Given the description of an element on the screen output the (x, y) to click on. 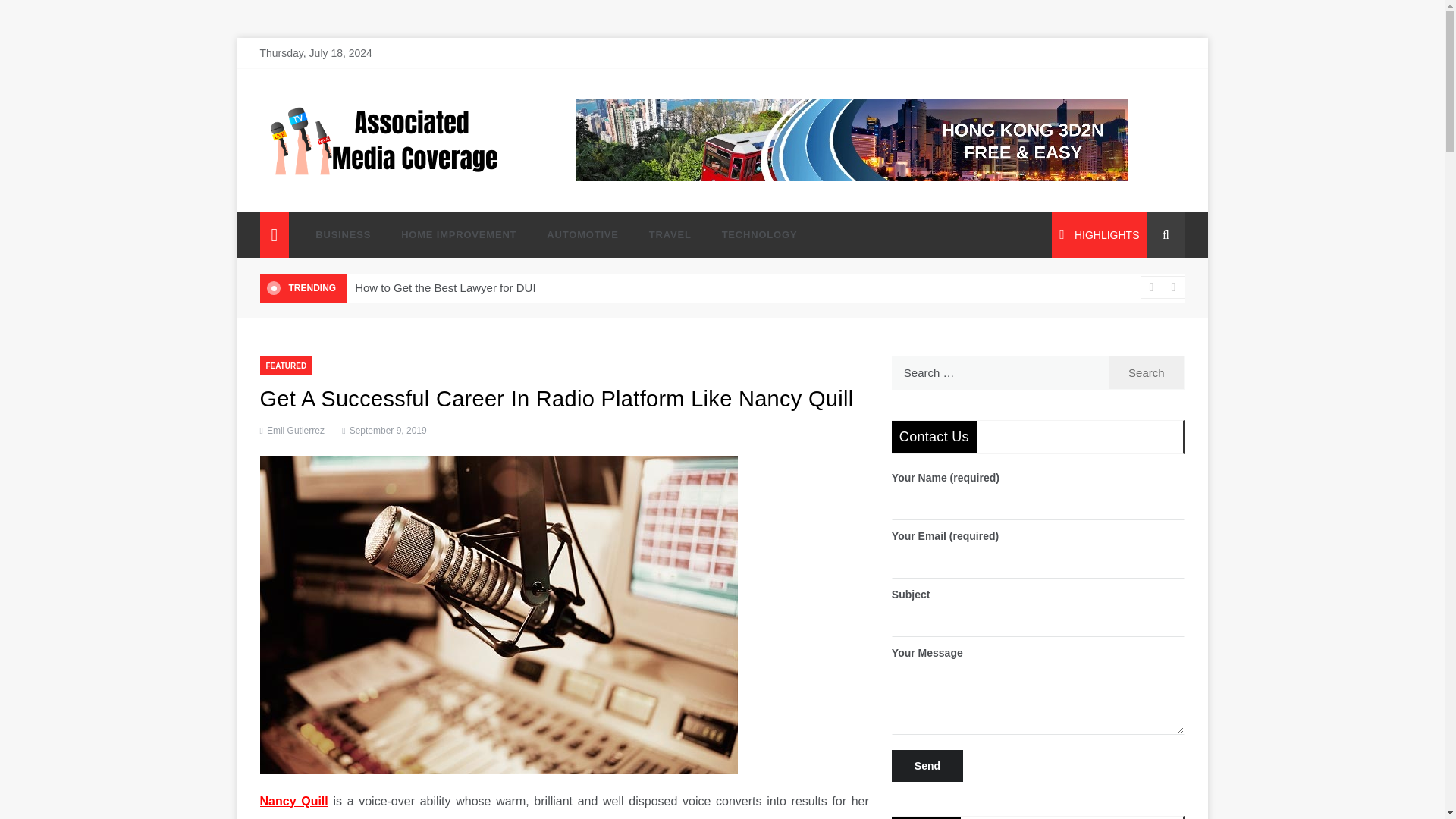
HOME IMPROVEMENT (458, 234)
TRAVEL (669, 234)
Search (1146, 372)
TECHNOLOGY (751, 234)
How to Get the Best Lawyer for DUI (445, 287)
Emil Gutierrez (295, 429)
BUSINESS (342, 234)
AUTOMOTIVE (582, 234)
HIGHLIGHTS (1099, 234)
FEATURED (286, 365)
Send (926, 766)
Associated Media Coverage (399, 191)
Search (1146, 372)
